Given the description of an element on the screen output the (x, y) to click on. 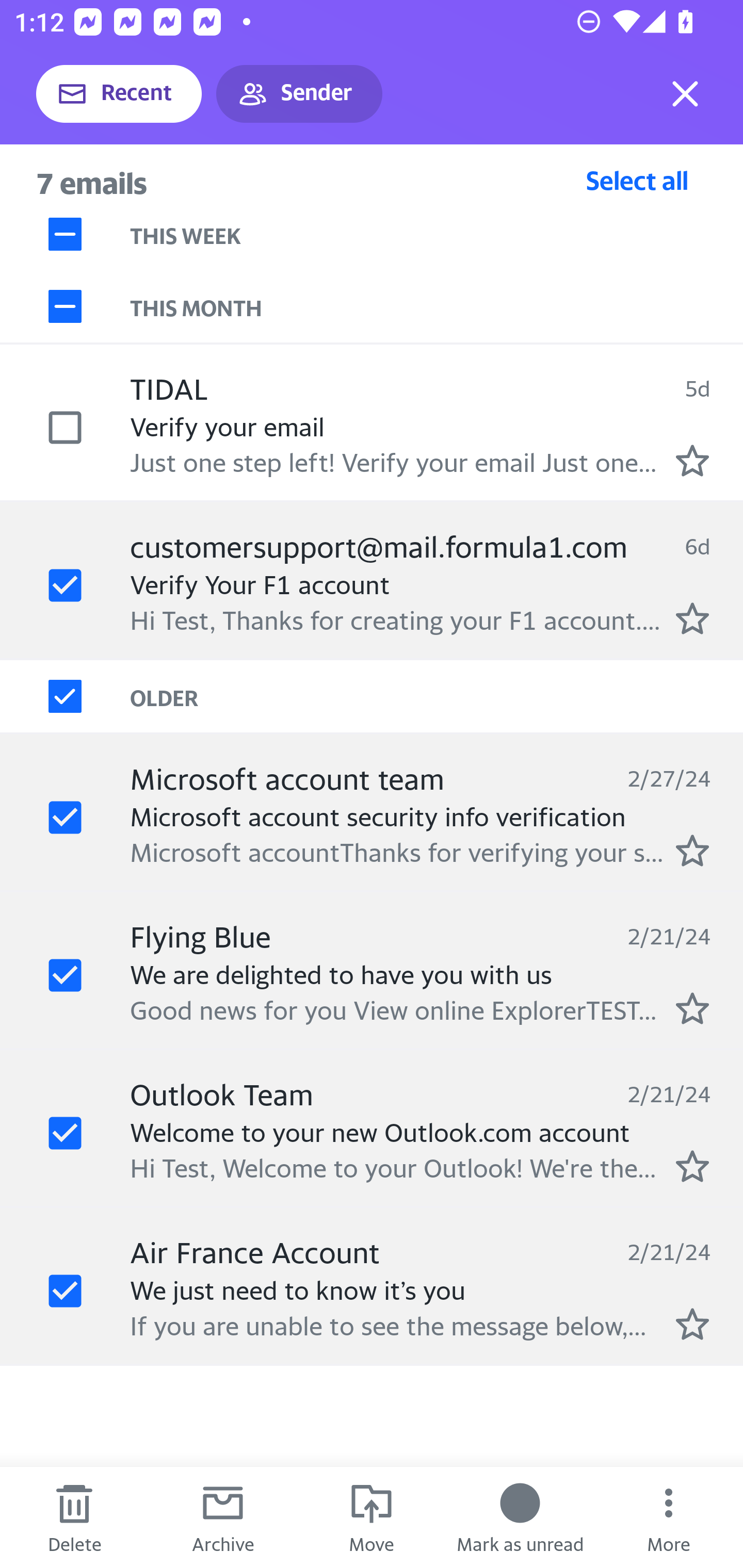
Sender (299, 93)
Exit selection mode (684, 93)
Select all (637, 180)
THIS MONTH (436, 306)
Mark as starred. (692, 460)
Mark as starred. (692, 618)
OLDER (436, 696)
Mark as starred. (692, 850)
Mark as starred. (692, 1008)
Mark as starred. (692, 1165)
Mark as starred. (692, 1324)
Delete (74, 1517)
Archive (222, 1517)
Move (371, 1517)
Mark as unread (519, 1517)
More (668, 1517)
